Given the description of an element on the screen output the (x, y) to click on. 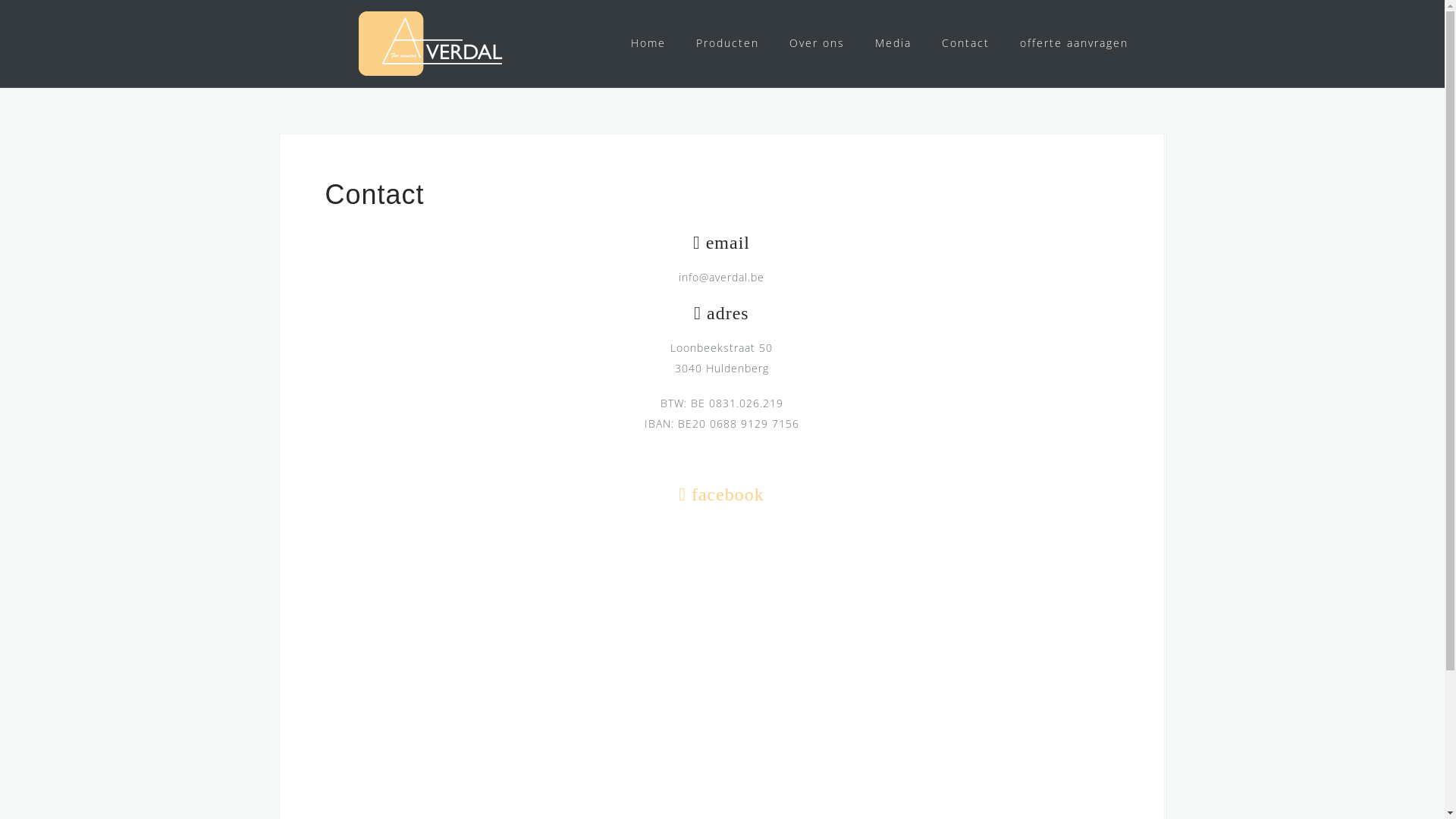
Over ons Element type: text (816, 43)
Contact Element type: text (965, 43)
Media Element type: text (893, 43)
Skip to content Element type: text (0, 0)
Home Element type: text (647, 43)
Producten Element type: text (727, 43)
facebook Element type: text (721, 493)
offerte aanvragen Element type: text (1073, 43)
